Given the description of an element on the screen output the (x, y) to click on. 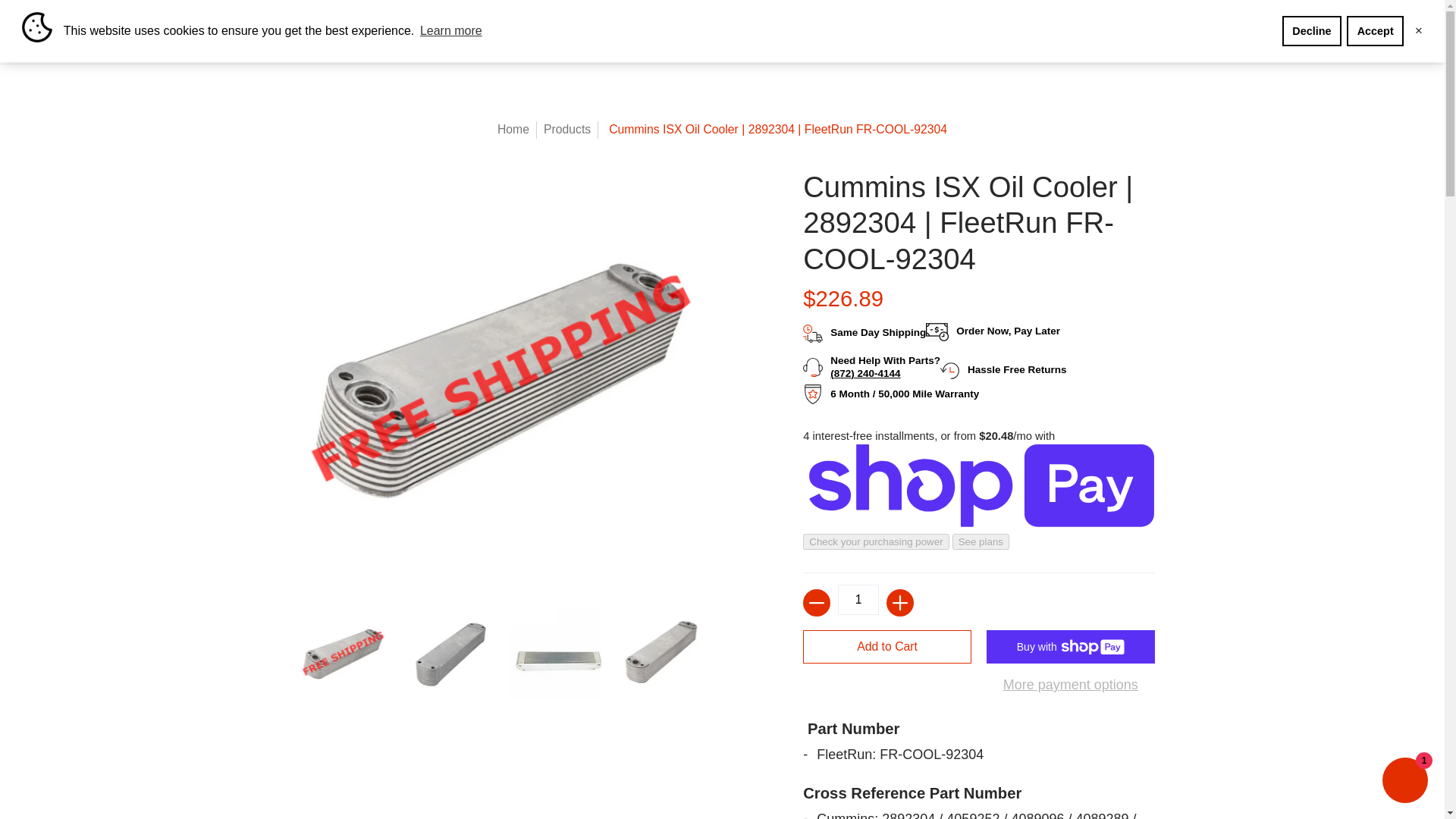
FleetRun Truck Parts (156, 46)
Update store language (1315, 15)
1 (858, 599)
EN (1315, 15)
Cart (1235, 15)
Accept (1374, 30)
Volvo (544, 46)
Decline (1311, 30)
Learn more (450, 30)
Freightliner (609, 46)
Log in (1286, 15)
Volvo (544, 46)
